Given the description of an element on the screen output the (x, y) to click on. 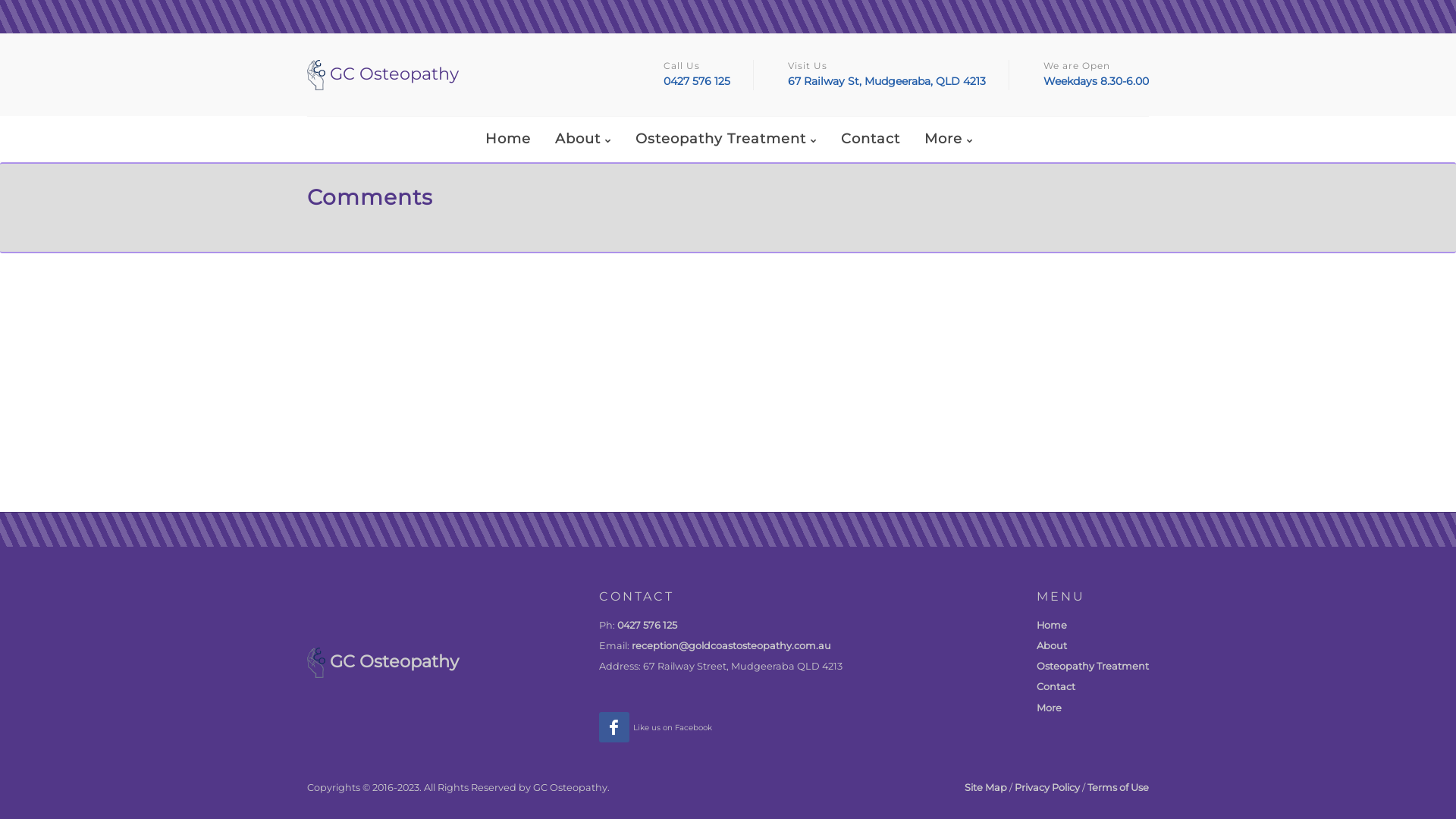
Osteopathy Treatment Element type: text (725, 139)
Osteopathy Treatment Element type: text (1092, 665)
GC Osteopathy Element type: text (382, 660)
About Element type: text (1051, 645)
Like us on Facebook Element type: text (672, 726)
Home Element type: text (507, 138)
Terms of Use Element type: text (1117, 787)
More Element type: text (948, 139)
reception@goldcoastosteopathy.com.au Element type: text (731, 645)
Site Map Element type: text (985, 787)
0427 576 125 Element type: text (696, 80)
GC Osteopathy Element type: text (464, 74)
Contact Element type: text (870, 138)
Facebook Element type: hover (614, 727)
0427 576 125 Element type: text (647, 624)
Contact Element type: text (1055, 686)
Home Element type: text (1051, 624)
More Element type: text (1048, 707)
Privacy Policy Element type: text (1046, 787)
About Element type: text (581, 139)
